Given the description of an element on the screen output the (x, y) to click on. 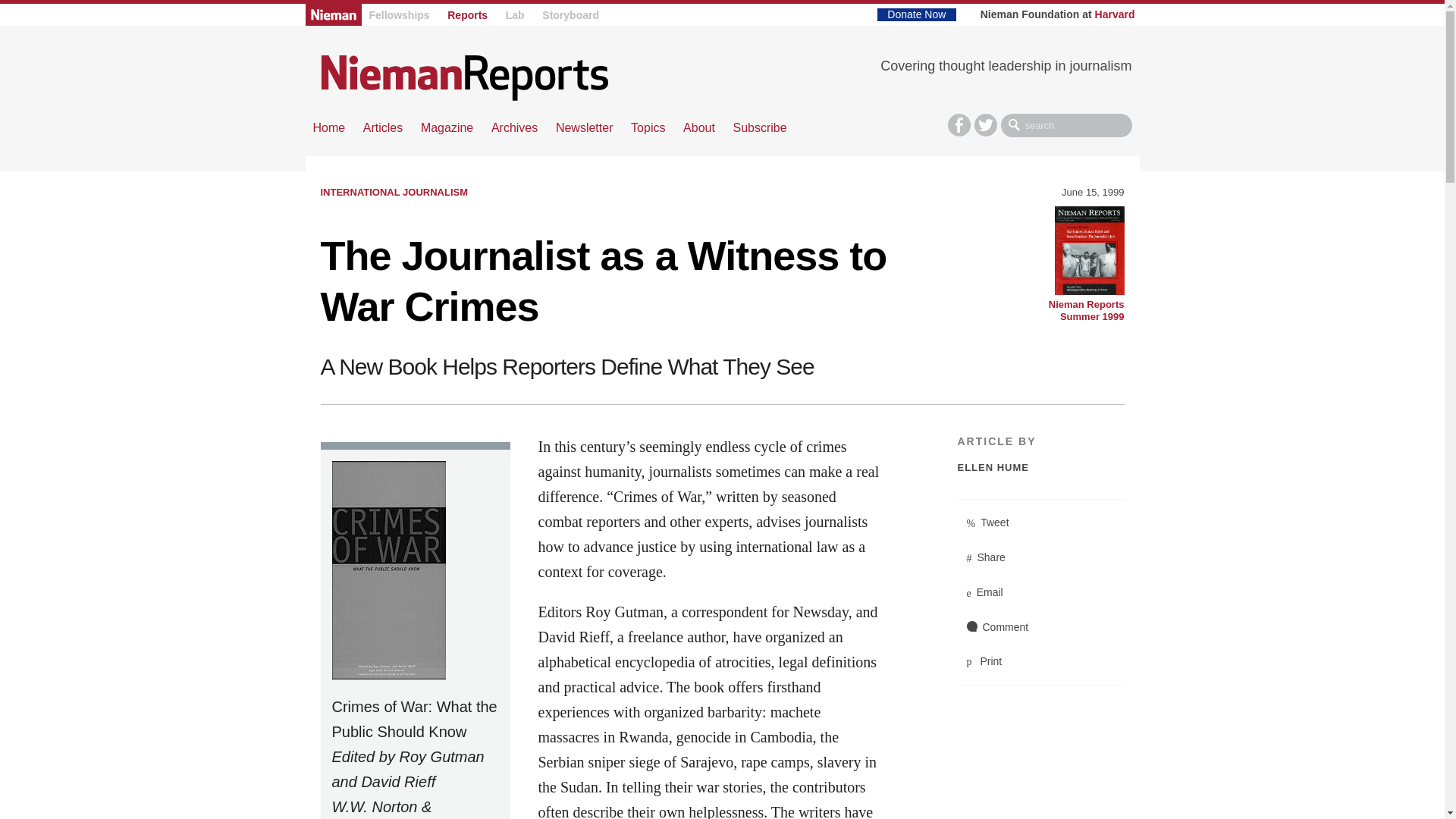
Home (329, 127)
Lab (514, 15)
Print (1040, 661)
Comment (1040, 627)
Archives (514, 127)
Share (1040, 557)
Tweet (1040, 523)
F (959, 124)
Storyboard (569, 15)
Articles (382, 127)
Email (1040, 592)
Nieman Foundation Home (332, 14)
Harvard (1114, 14)
ELLEN HUME (992, 467)
INTERNATIONAL JOURNALISM (393, 192)
